Given the description of an element on the screen output the (x, y) to click on. 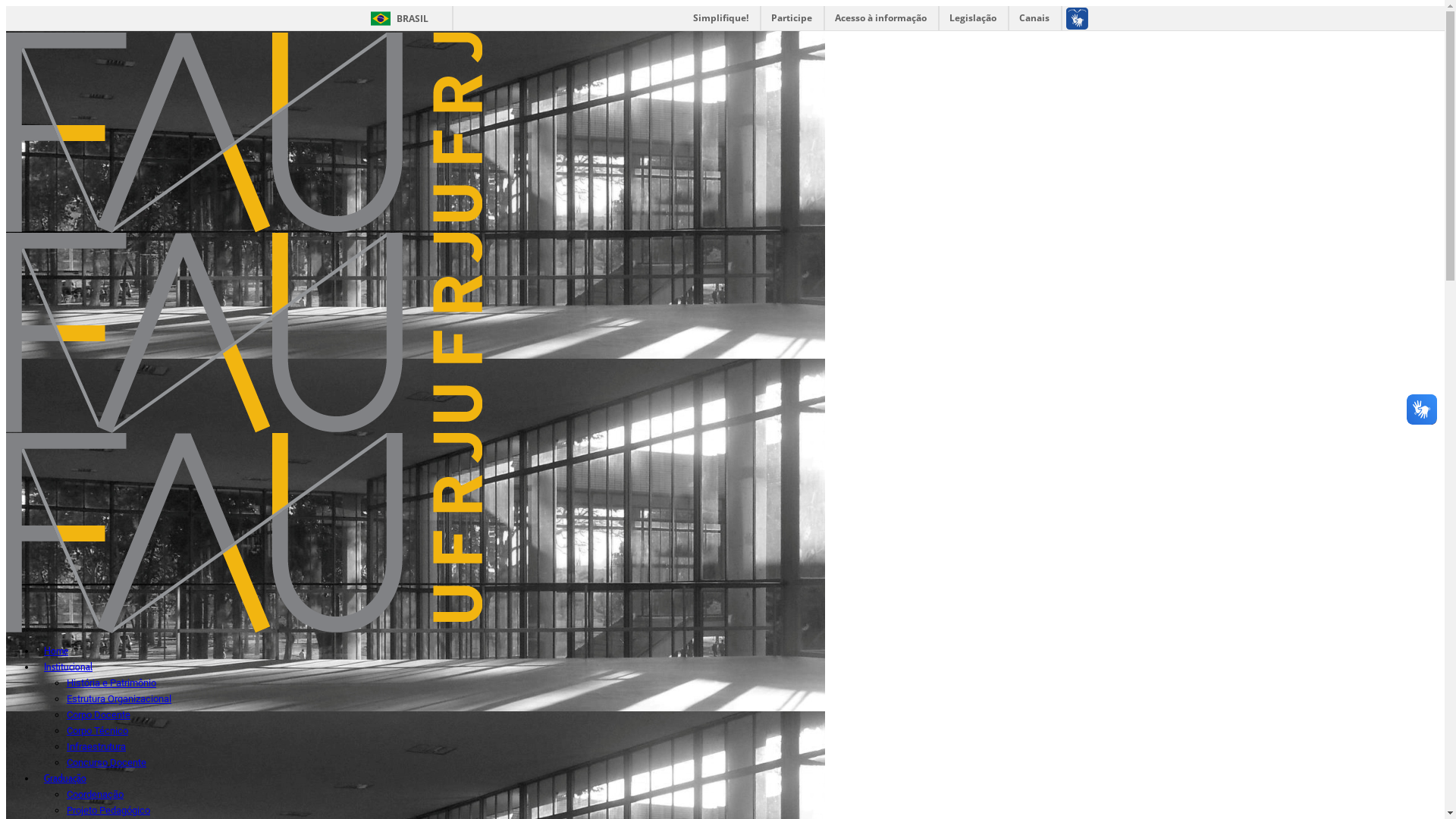
Canais Element type: text (1034, 17)
Estrutura Organizacional Element type: text (118, 698)
Corpo Docente Element type: text (98, 714)
Concurso Docente Element type: text (106, 762)
Aumentar fonte Element type: text (352, 14)
Simplifique! Element type: text (720, 17)
Institucional Element type: text (68, 666)
Faculdade de Arquitetura e Urbanismo - FAU - UFRJ Element type: hover (244, 429)
Restaurar fonte Element type: text (524, 14)
Diminuir fonte Element type: text (439, 14)
Home Element type: text (55, 650)
Infraestrutura Element type: text (95, 746)
BRASIL Element type: text (396, 18)
Participe Element type: text (792, 17)
